Given the description of an element on the screen output the (x, y) to click on. 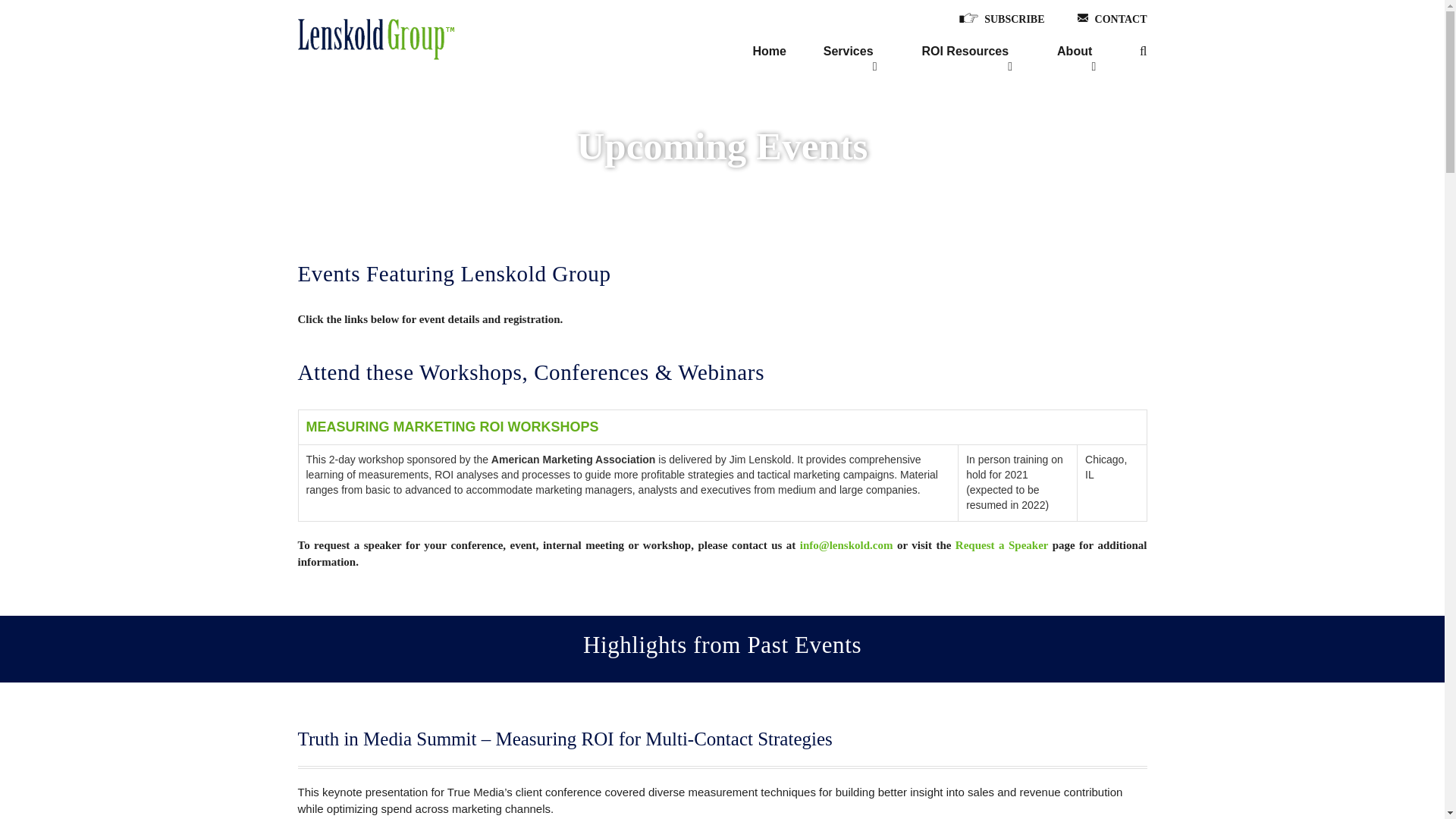
Services (848, 54)
About (1074, 54)
ROI Resources (965, 54)
Home (769, 54)
SUBSCRIBE (1013, 19)
CONTACT (1120, 19)
